Given the description of an element on the screen output the (x, y) to click on. 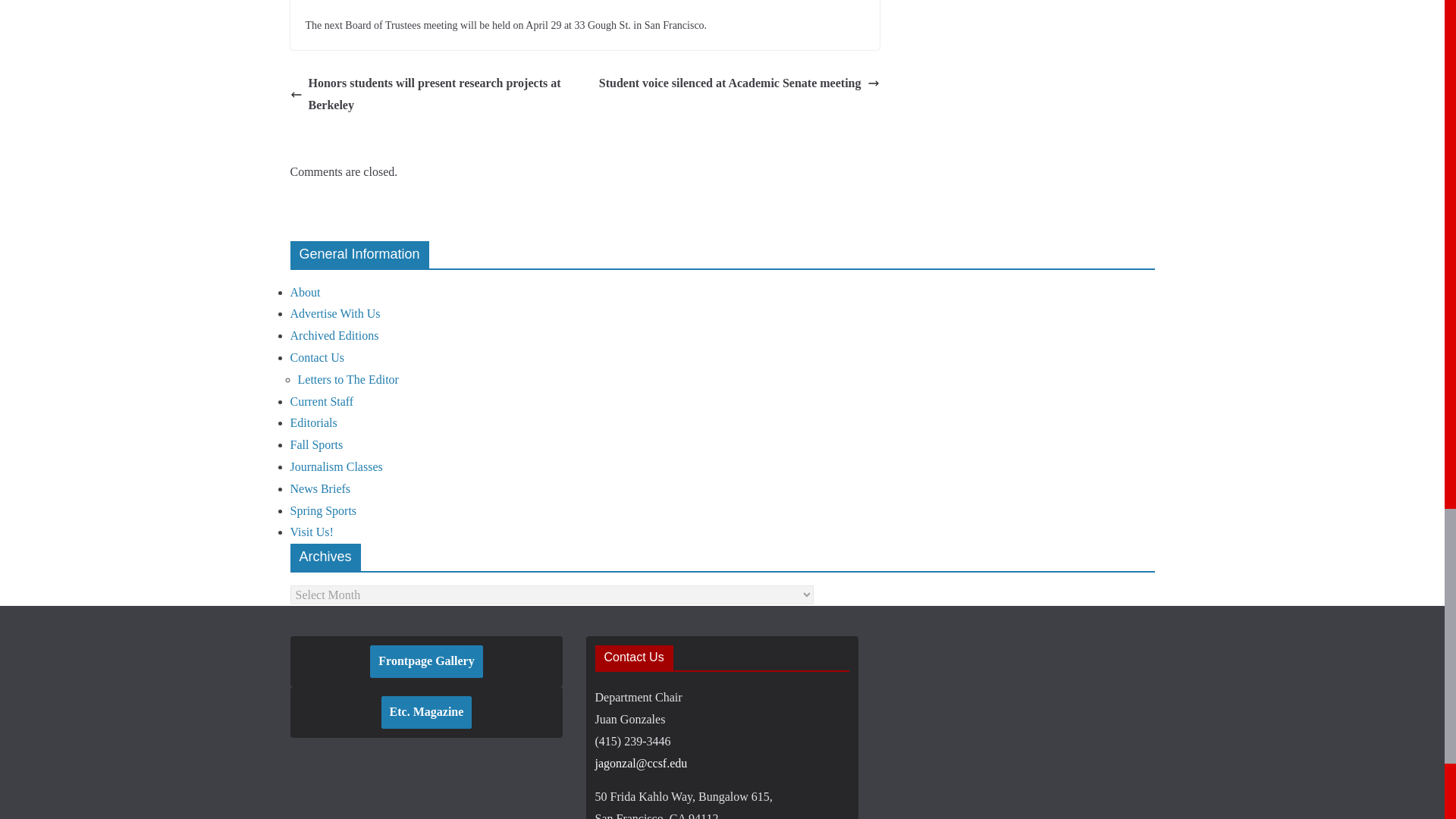
Student voice silenced at Academic Senate meeting (738, 83)
Letters to The Editor (347, 379)
Advertise With Us (334, 313)
Contact Us (316, 357)
Honors students will present research projects at Berkeley (432, 94)
Archived Editions (333, 335)
About (304, 291)
News Briefs (319, 488)
Spring Sports (322, 510)
Editorials (312, 422)
